Given the description of an element on the screen output the (x, y) to click on. 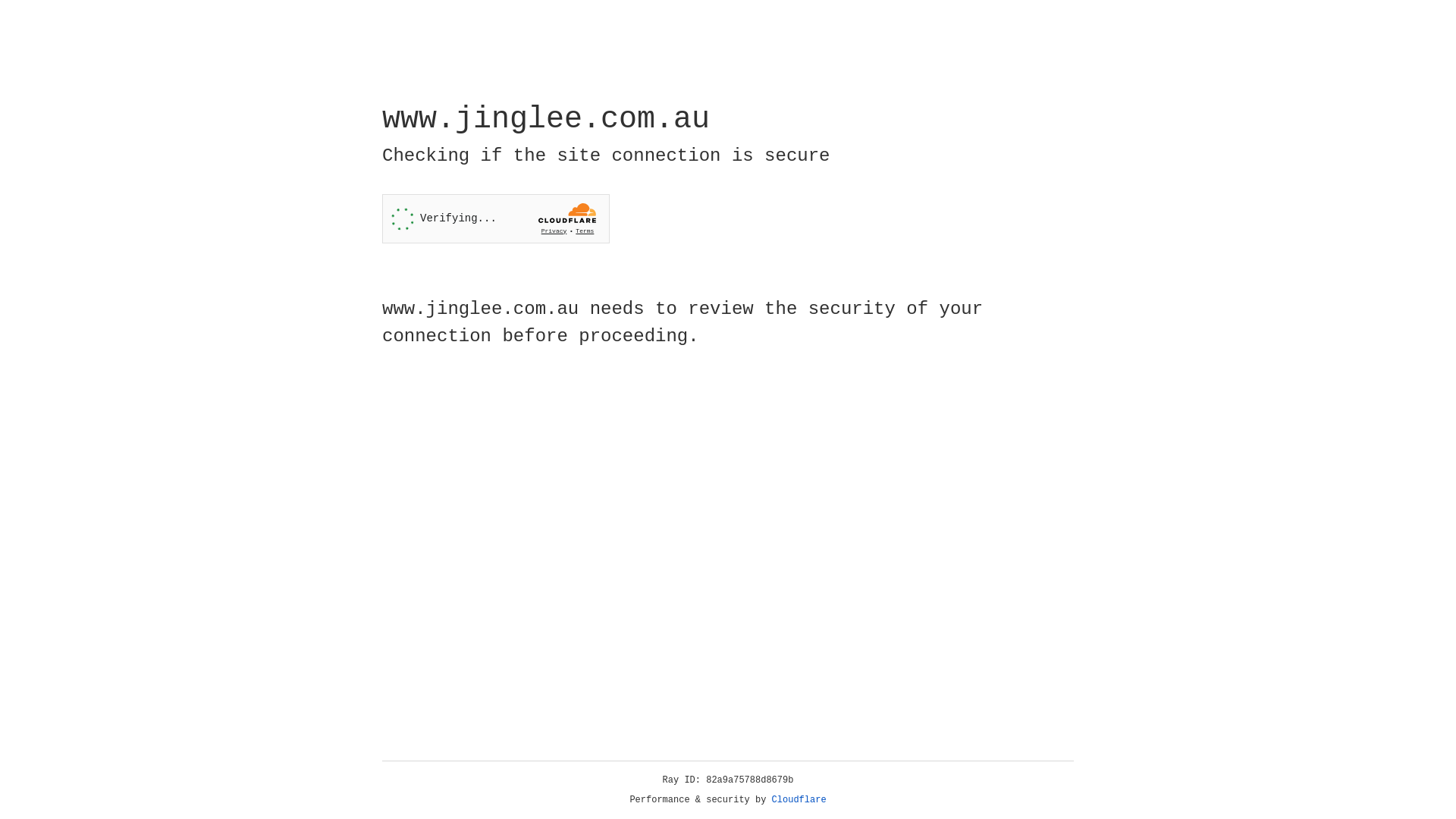
Cloudflare Element type: text (798, 799)
Widget containing a Cloudflare security challenge Element type: hover (495, 218)
